Given the description of an element on the screen output the (x, y) to click on. 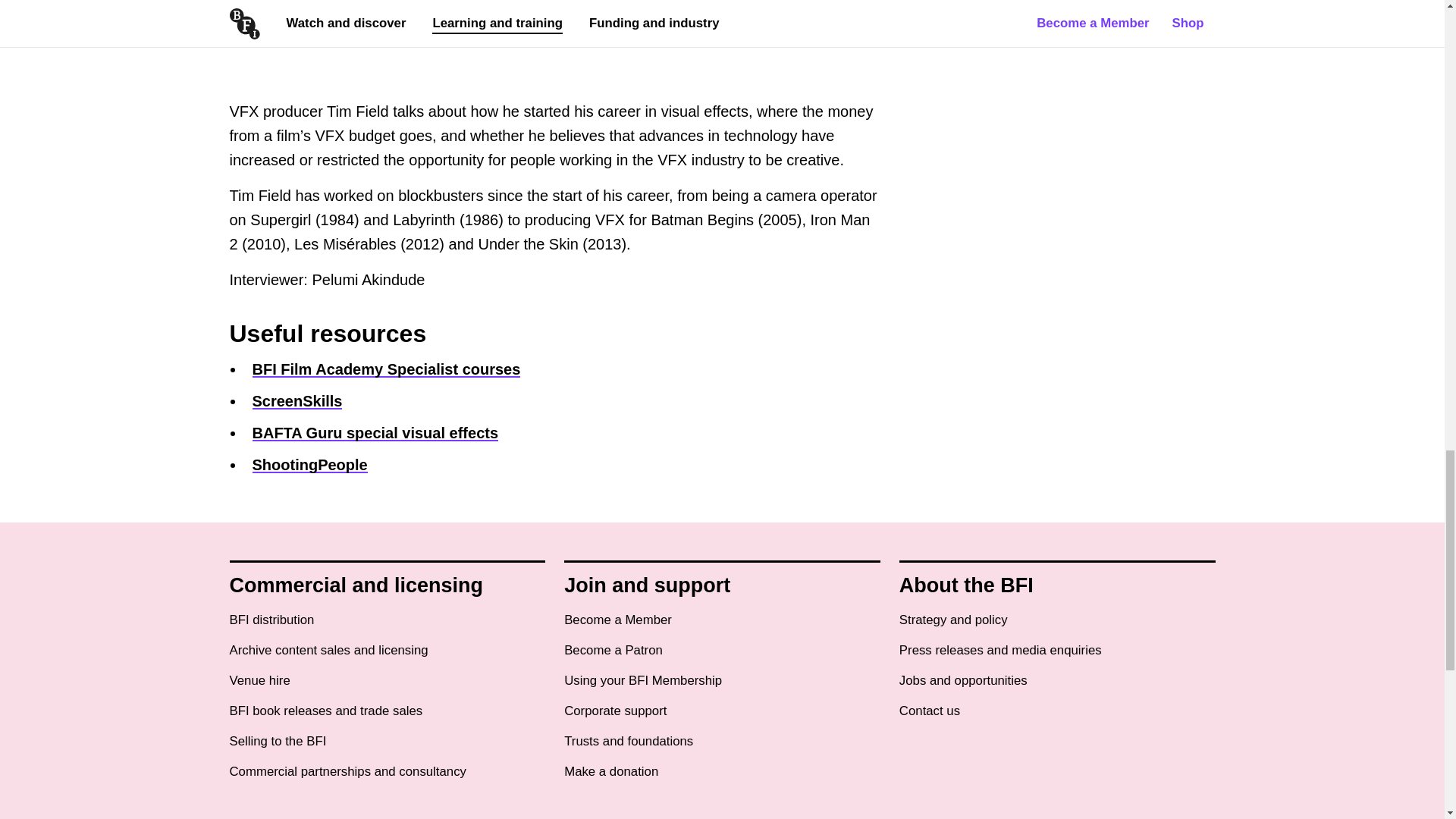
Using your BFI Membership (643, 680)
BFI distribution (271, 620)
BFI Film Academy Specialist courses (385, 369)
Commercial and licensing (355, 585)
ShootingPeople (308, 464)
Make a donation (611, 771)
Corporate support (615, 711)
ScreenSkills (296, 401)
Press releases and media enquiries (1000, 650)
About the BFI (966, 585)
BFI Film Academy Specialist Courses (385, 369)
Join and support (647, 585)
BFI book releases and trade sales (325, 711)
Jobs and opportunities (963, 680)
Become a Patron (613, 650)
